Given the description of an element on the screen output the (x, y) to click on. 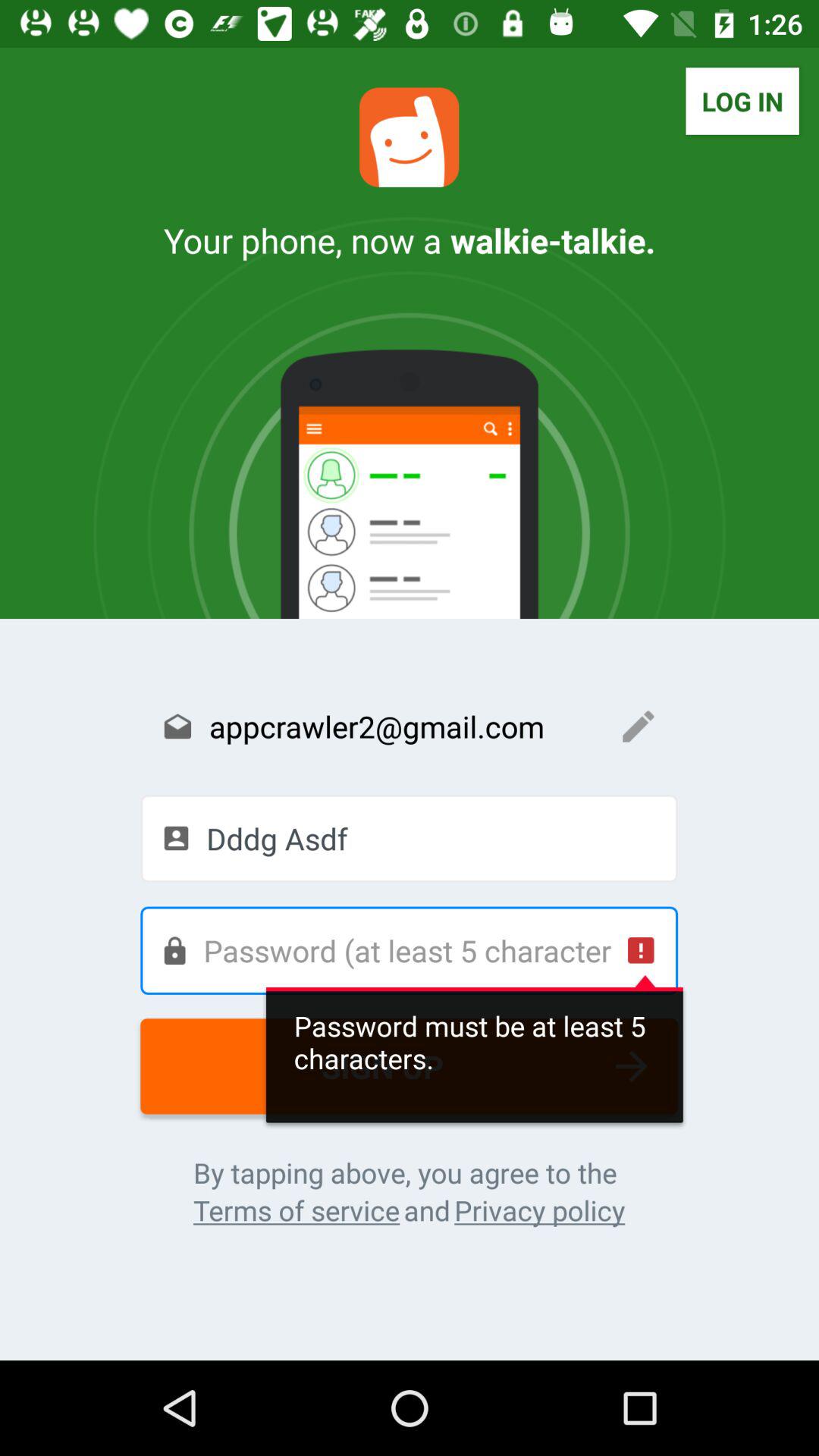
flip until the terms of service icon (296, 1210)
